Given the description of an element on the screen output the (x, y) to click on. 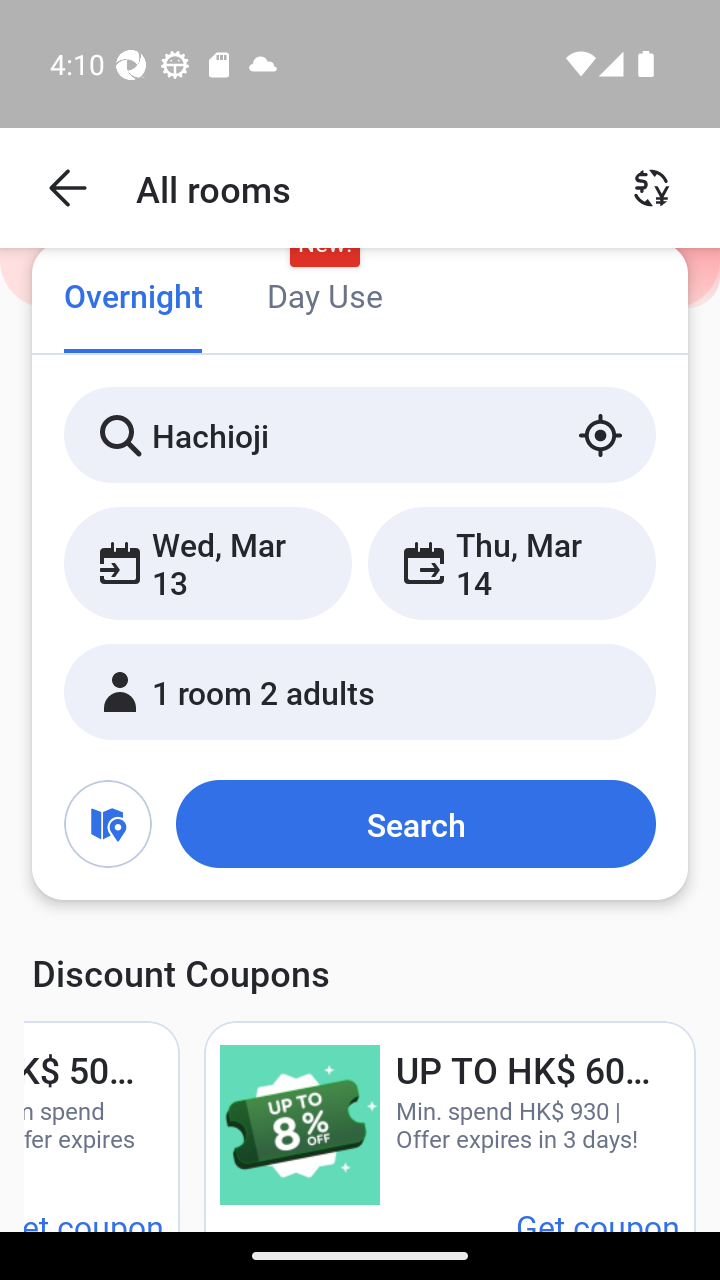
Day Use (324, 298)
Hachioji (359, 434)
Wed, Mar 13 (208, 562)
Thu, Mar 14 (511, 562)
1 room 2 adults (359, 691)
Search (415, 823)
